Given the description of an element on the screen output the (x, y) to click on. 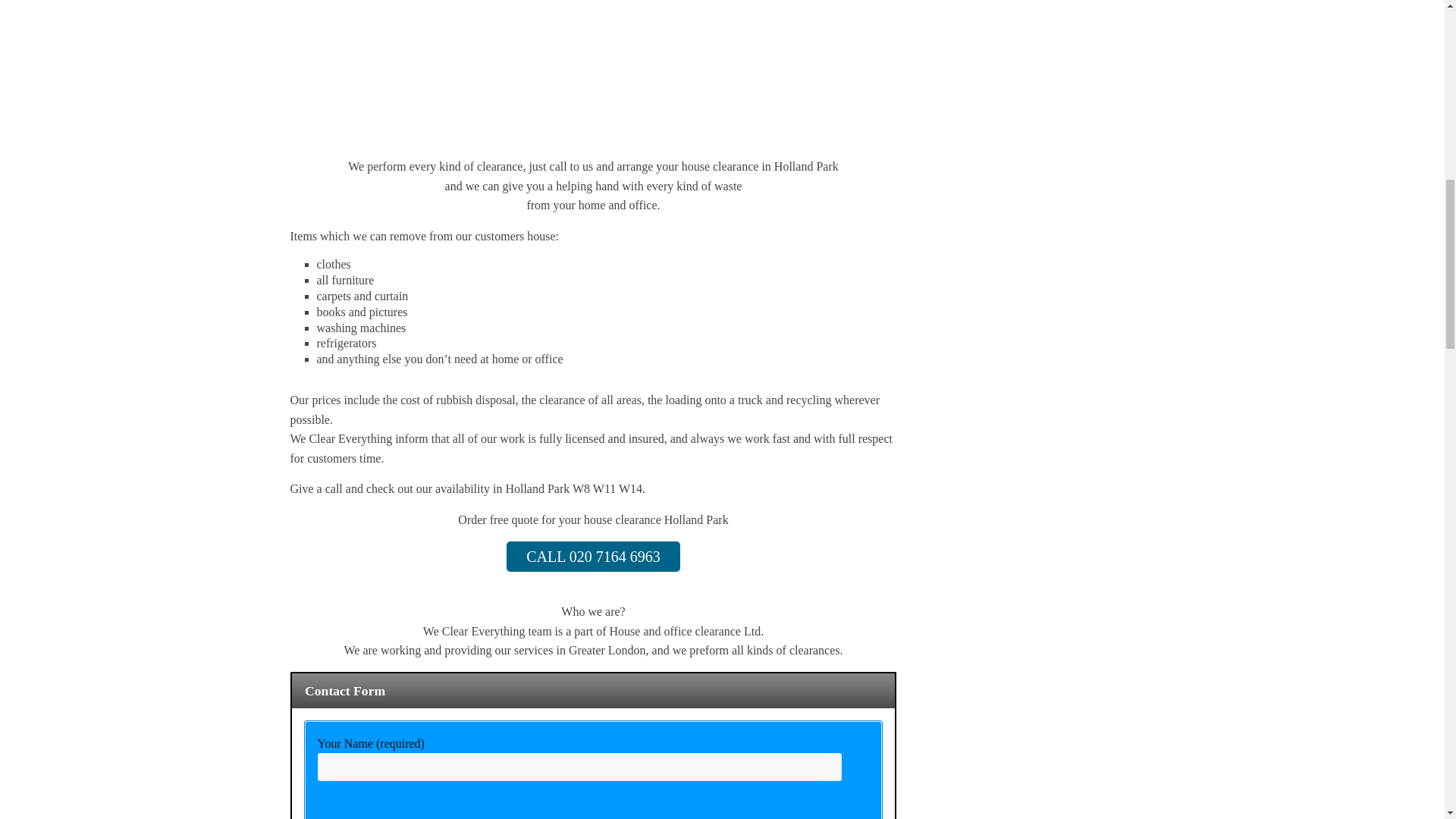
CALL 020 7164 6963 (592, 556)
